Given the description of an element on the screen output the (x, y) to click on. 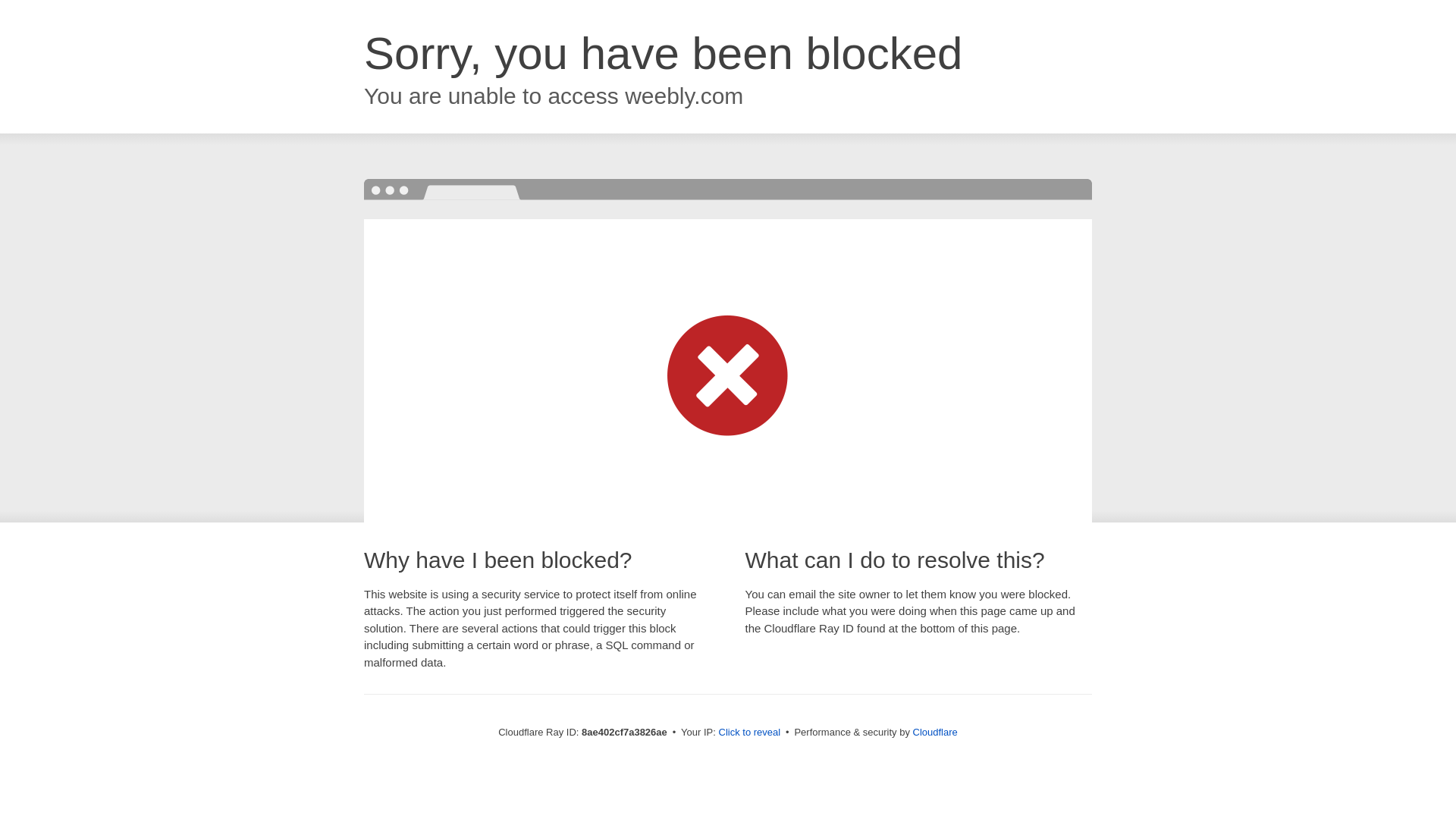
Click to reveal (749, 732)
Cloudflare (935, 731)
